Given the description of an element on the screen output the (x, y) to click on. 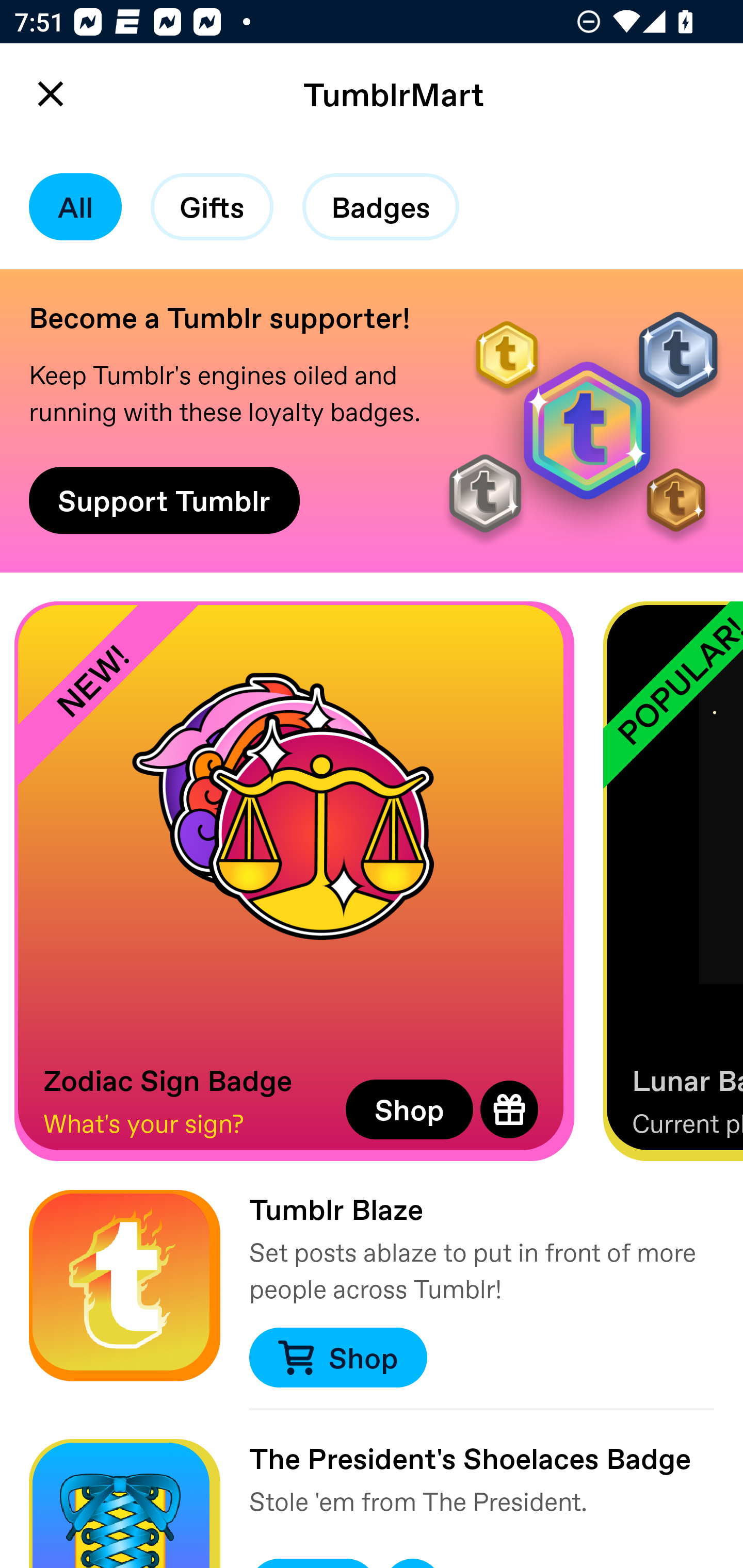
All (74, 206)
Gifts (211, 206)
Badges (380, 206)
Support Tumblr (163, 500)
NEW! Zodiac Sign Badge What's your sign? Shop (294, 881)
Shop (409, 1108)
Shop (337, 1357)
